Given the description of an element on the screen output the (x, y) to click on. 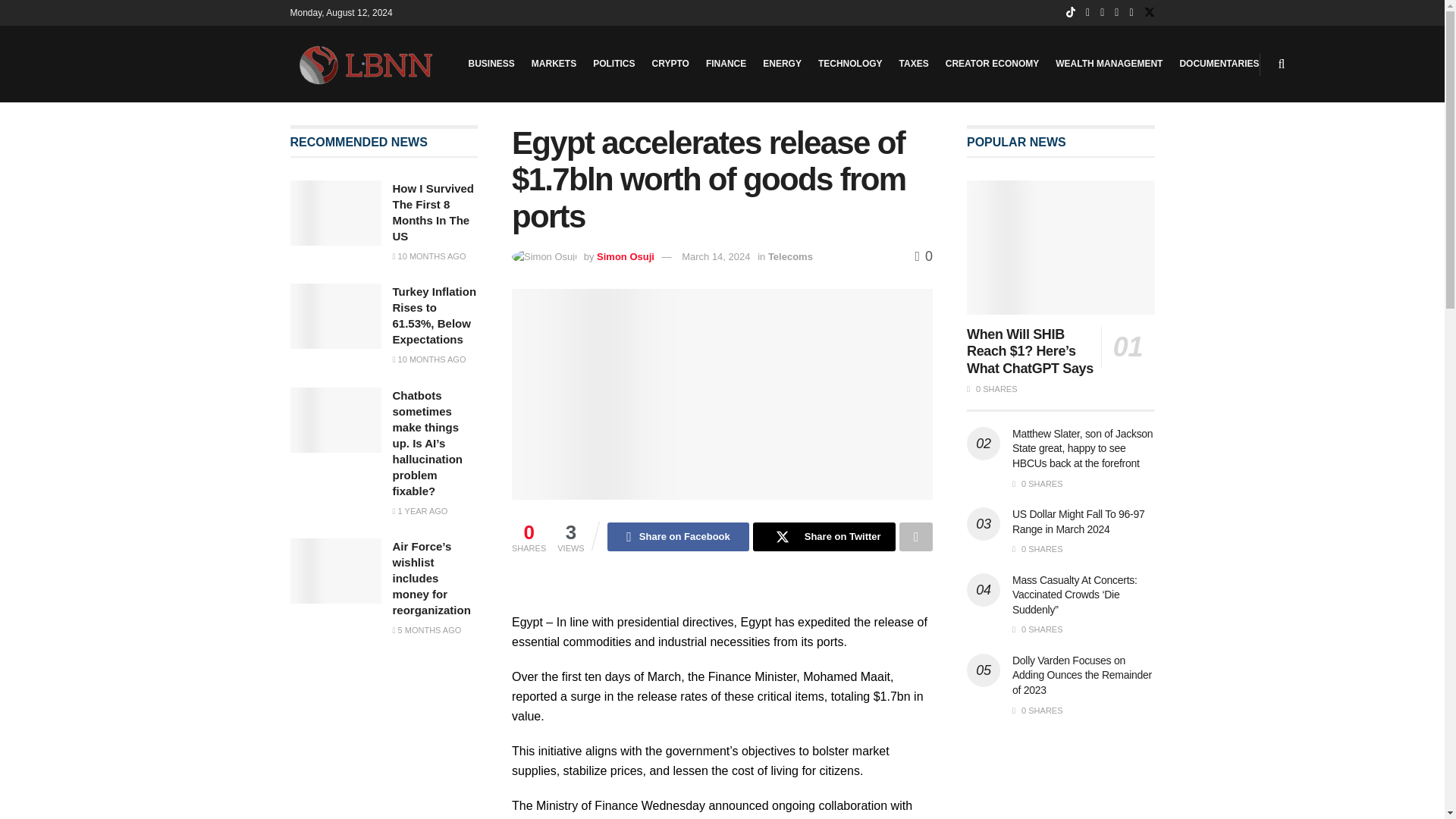
DOCUMENTARIES (1219, 63)
Share on Twitter (823, 536)
WEALTH MANAGEMENT (1108, 63)
March 14, 2024 (715, 255)
Telecoms (790, 255)
0 (923, 255)
Share on Facebook (678, 536)
CREATOR ECONOMY (991, 63)
Simon Osuji (624, 255)
